Given the description of an element on the screen output the (x, y) to click on. 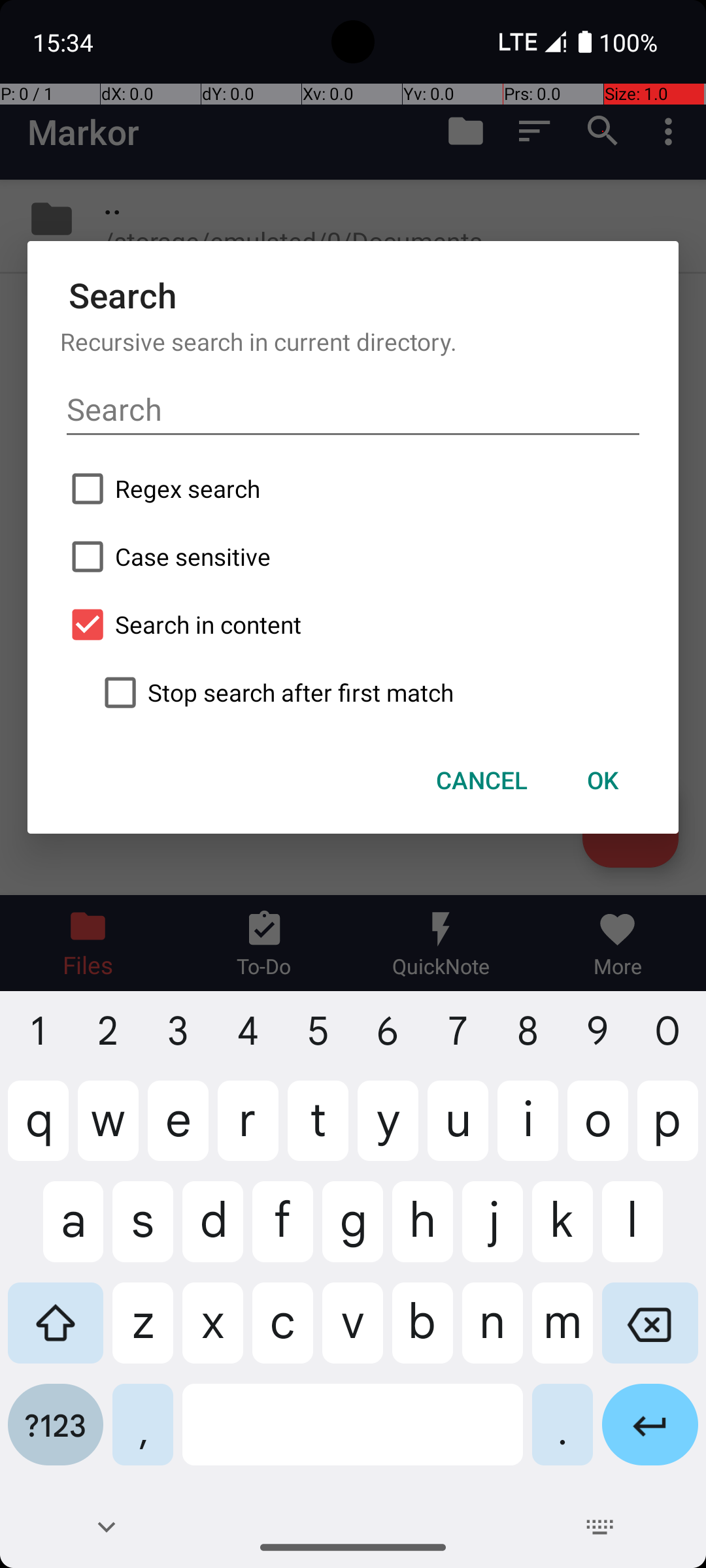
Stop search after first match Element type: android.widget.CheckBox (368, 692)
